Given the description of an element on the screen output the (x, y) to click on. 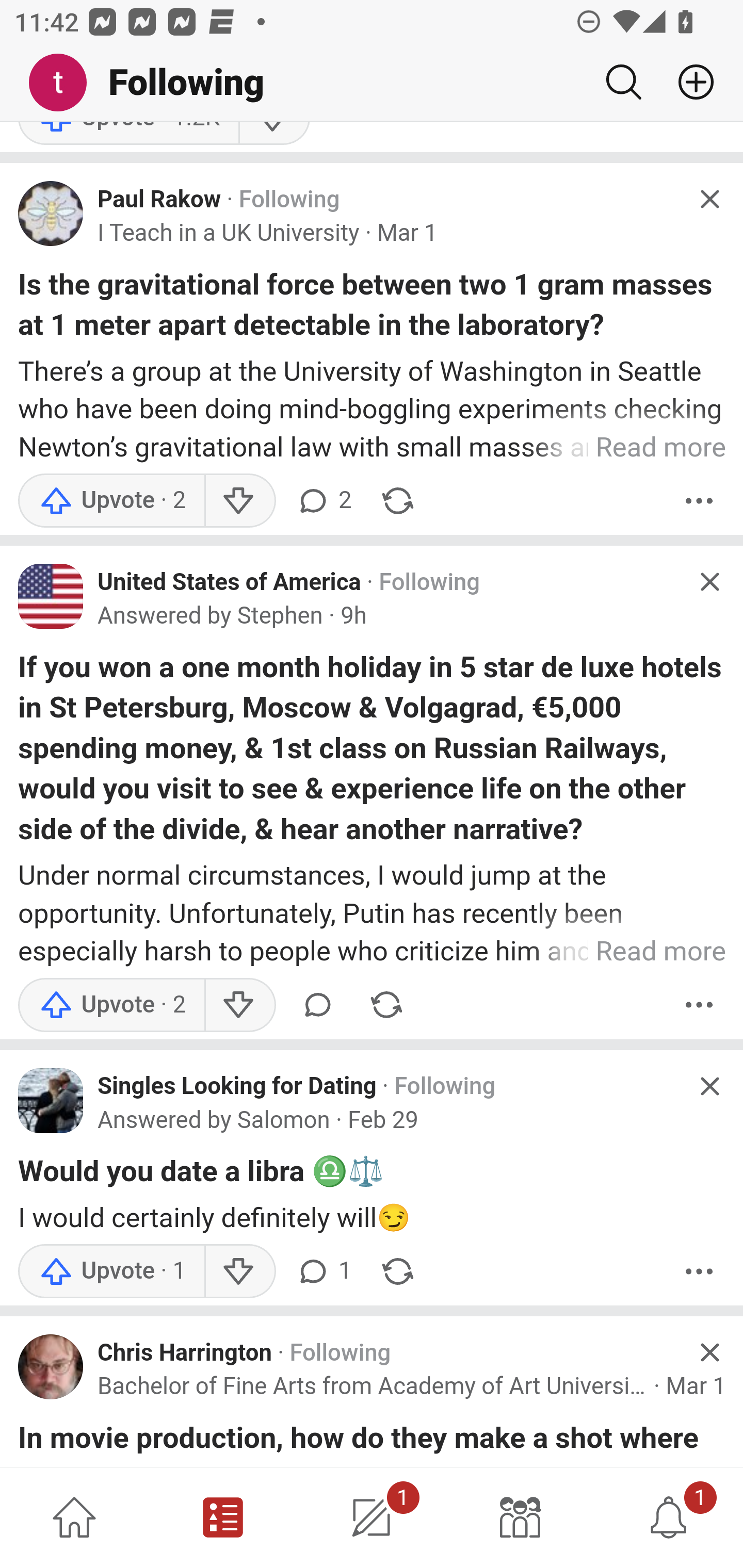
Me (64, 83)
Search (623, 82)
Add (688, 82)
Hide (709, 199)
Profile photo for Paul Rakow (50, 213)
Paul Rakow (159, 199)
Following (289, 199)
Upvote (111, 501)
Downvote (238, 501)
2 comments (323, 501)
Share (398, 501)
More (699, 501)
Hide (709, 581)
Icon for United States of America (50, 597)
United States of America (229, 583)
Following (428, 583)
Upvote (111, 1004)
Downvote (238, 1004)
Comment (317, 1004)
Share (386, 1004)
More (699, 1004)
Hide (709, 1085)
Icon for Singles Looking for Dating (50, 1100)
Singles Looking for Dating (237, 1086)
Following (444, 1086)
I would certainly definitely will😏 (372, 1217)
Upvote (111, 1270)
Downvote (238, 1270)
1 comment (323, 1270)
Share (398, 1270)
More (699, 1270)
Hide (709, 1352)
Profile photo for Chris Harrington (50, 1366)
Chris Harrington (184, 1352)
Following (340, 1352)
1 (371, 1517)
1 (668, 1517)
